Given the description of an element on the screen output the (x, y) to click on. 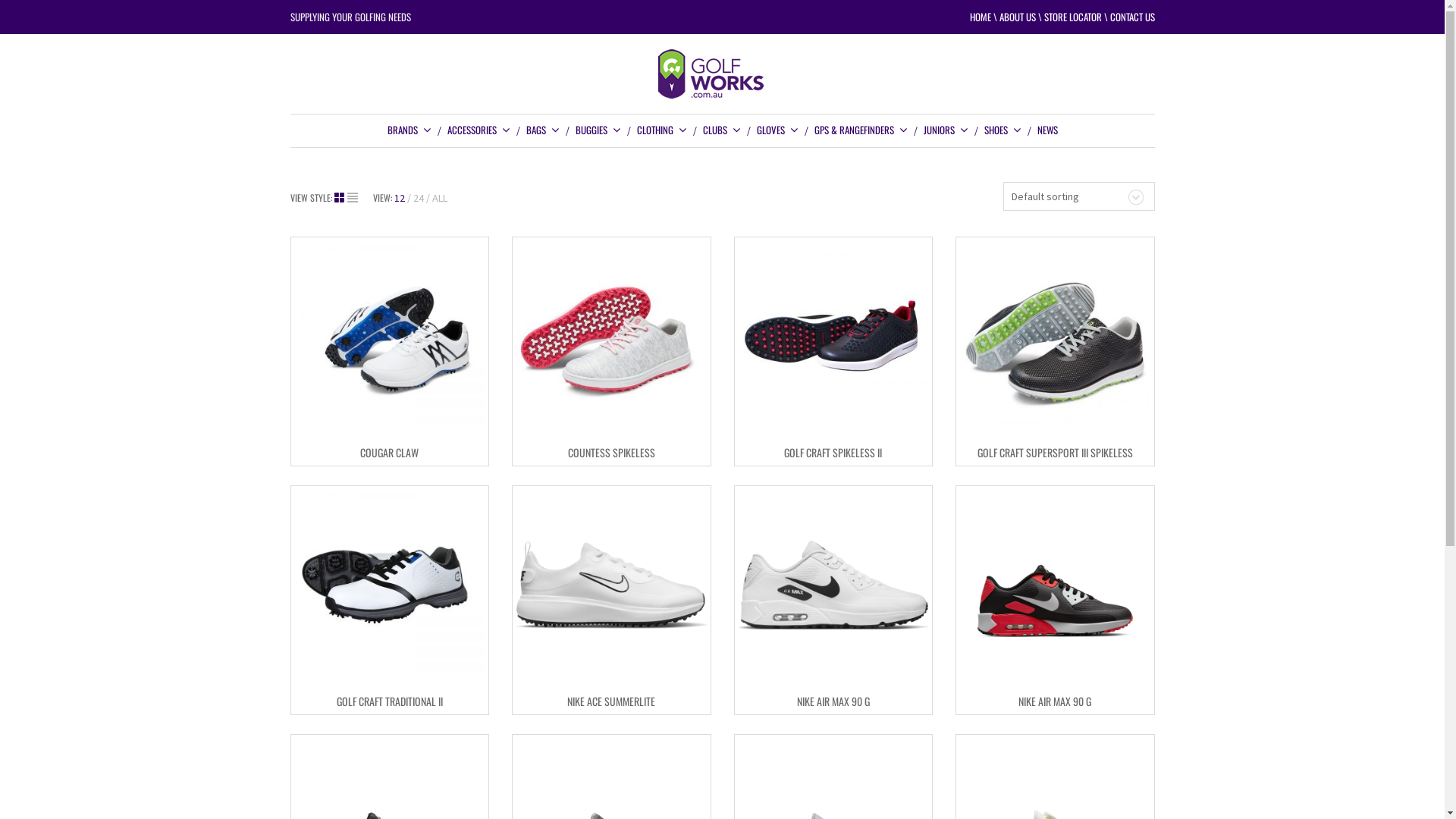
SHOES Element type: text (1002, 129)
STORE LOCATOR Element type: text (1072, 16)
BRANDS Element type: text (408, 129)
NIKE AIR MAX 90 G Element type: text (833, 701)
ALL Element type: text (439, 197)
NEWS Element type: text (1047, 129)
COUGAR CLAW Element type: text (389, 452)
24 Element type: text (420, 197)
ACCESSORIES Element type: text (478, 129)
Golf Works Element type: hover (722, 72)
BUGGIES Element type: text (597, 129)
JUNIORS Element type: text (945, 129)
GOLF CRAFT TRADITIONAL II Element type: text (389, 701)
HOME Element type: text (979, 16)
NIKE AIR MAX 90 G Element type: text (1054, 701)
Switch to list view Element type: hover (352, 197)
Golf Works Element type: hover (722, 73)
GOLF CRAFT SUPERSPORT III SPIKELESS Element type: text (1054, 452)
CLUBS Element type: text (721, 129)
ABOUT US Element type: text (1017, 16)
12 Element type: text (402, 197)
GLOVES Element type: text (777, 129)
NIKE ACE SUMMERLITE Element type: text (611, 701)
CONTACT US Element type: text (1132, 16)
Switch to grid view Element type: hover (339, 197)
CLOTHING Element type: text (662, 129)
BAGS Element type: text (542, 129)
COUNTESS SPIKELESS Element type: text (611, 452)
GPS & RANGEFINDERS Element type: text (860, 129)
GOLF CRAFT SPIKELESS II Element type: text (832, 452)
Default sorting Element type: text (1078, 196)
